Given the description of an element on the screen output the (x, y) to click on. 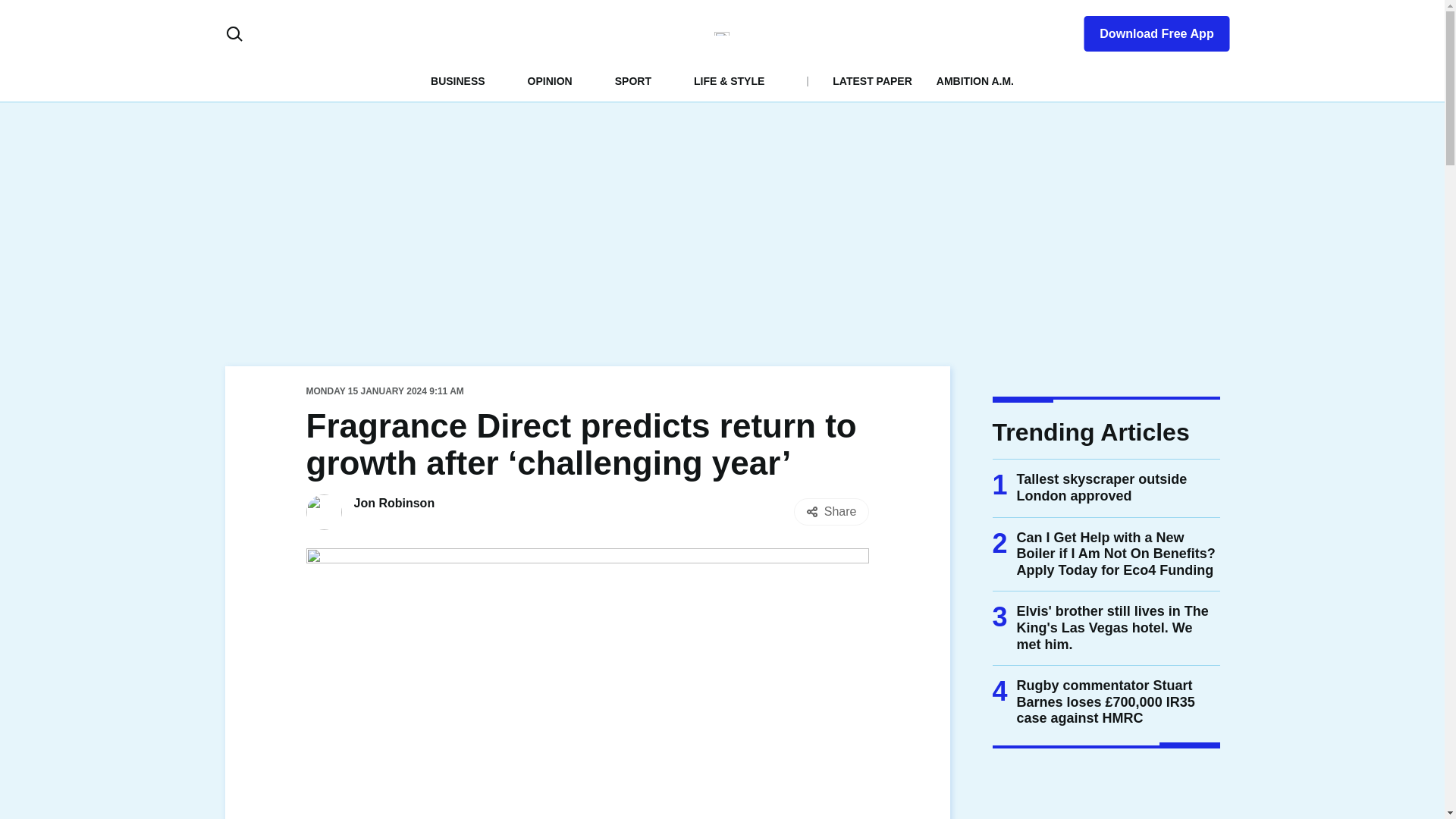
CityAM (721, 33)
Download Free App (1146, 30)
OPINION (549, 80)
SPORT (632, 80)
BUSINESS (457, 80)
